Given the description of an element on the screen output the (x, y) to click on. 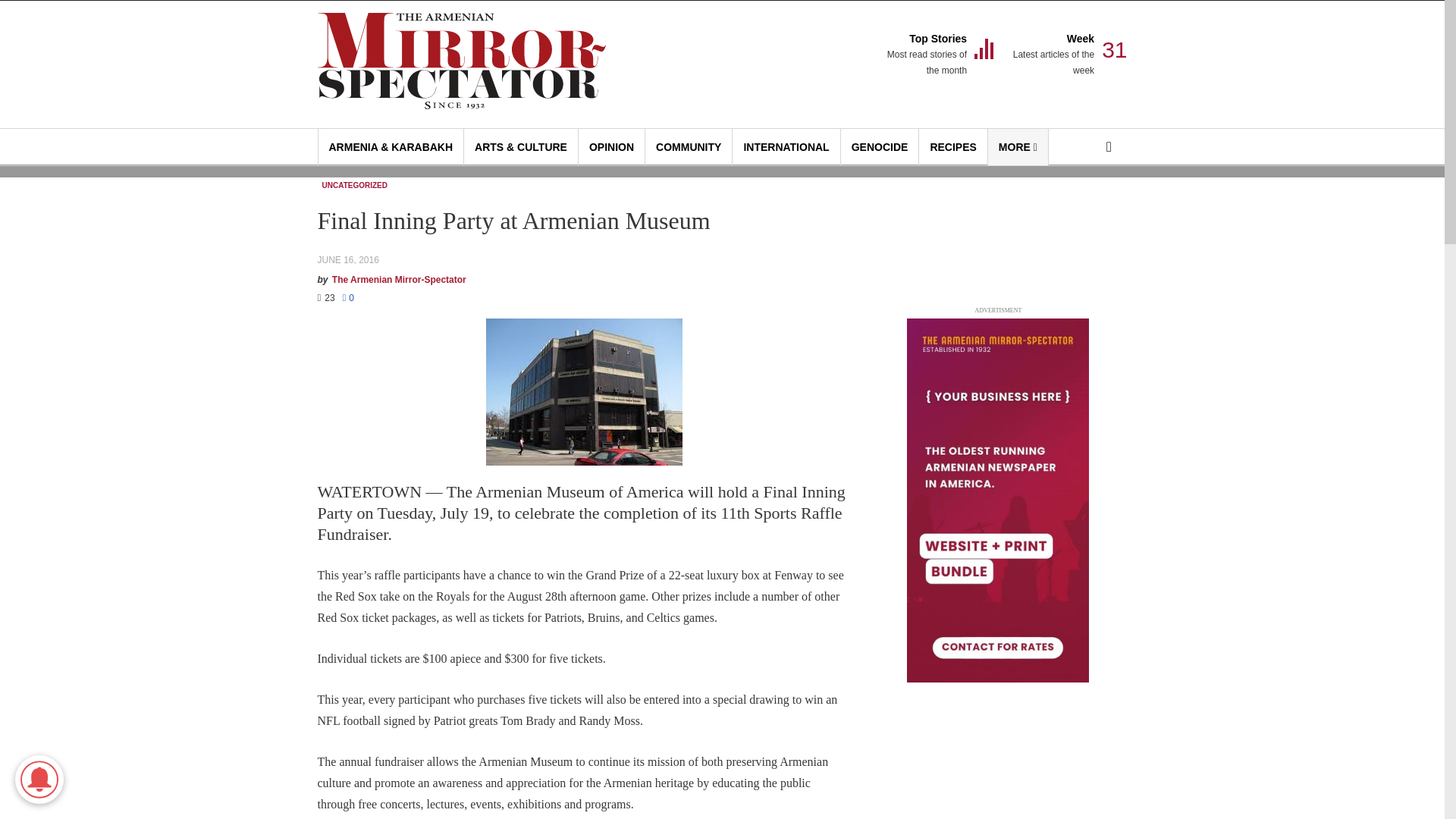
MORE (924, 54)
GENOCIDE (1052, 54)
RECIPES (1018, 146)
COMMUNITY (879, 146)
OPINION (952, 146)
INTERNATIONAL (688, 146)
